Given the description of an element on the screen output the (x, y) to click on. 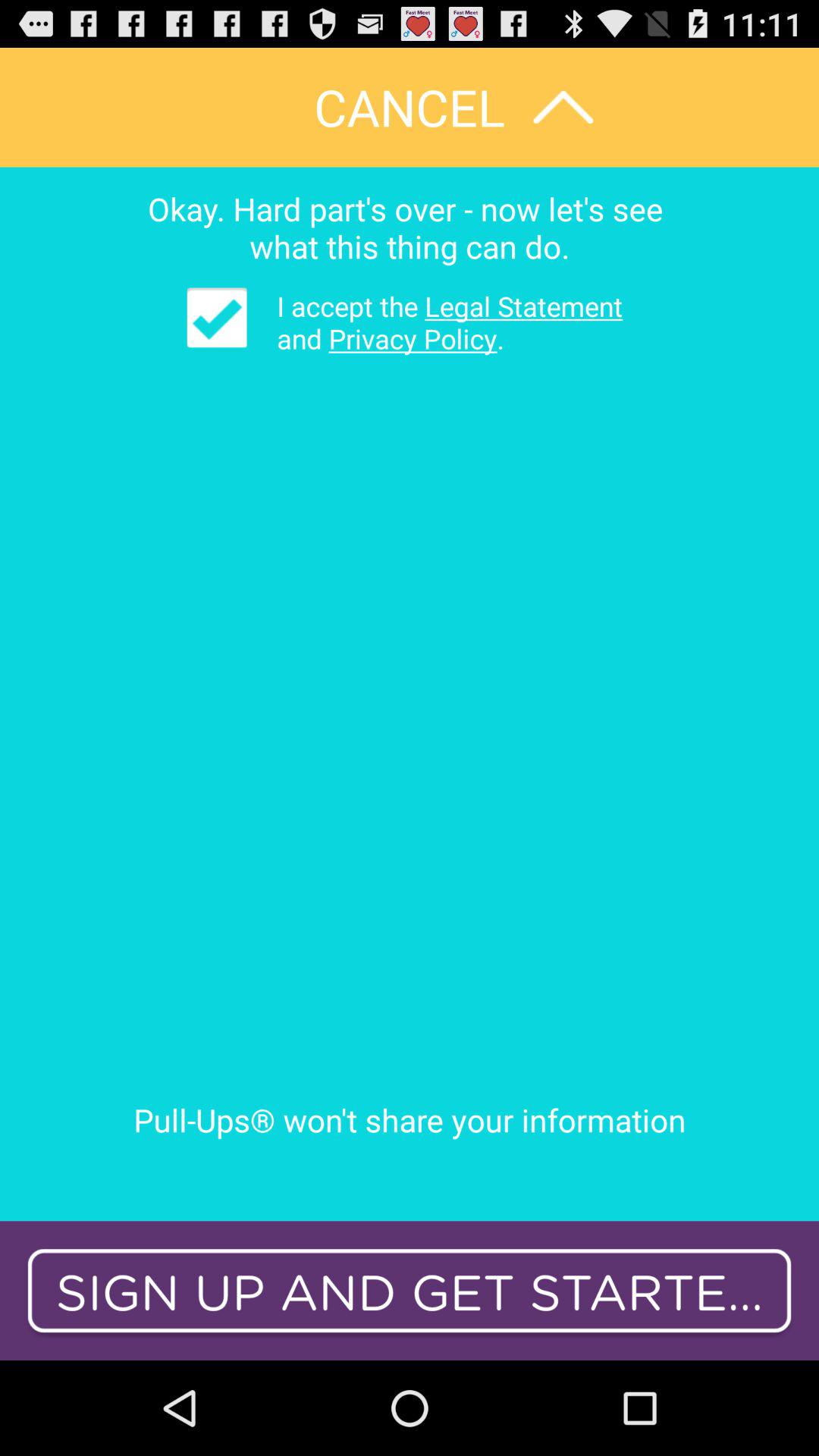
launch the icon below the okay hard part item (438, 322)
